Given the description of an element on the screen output the (x, y) to click on. 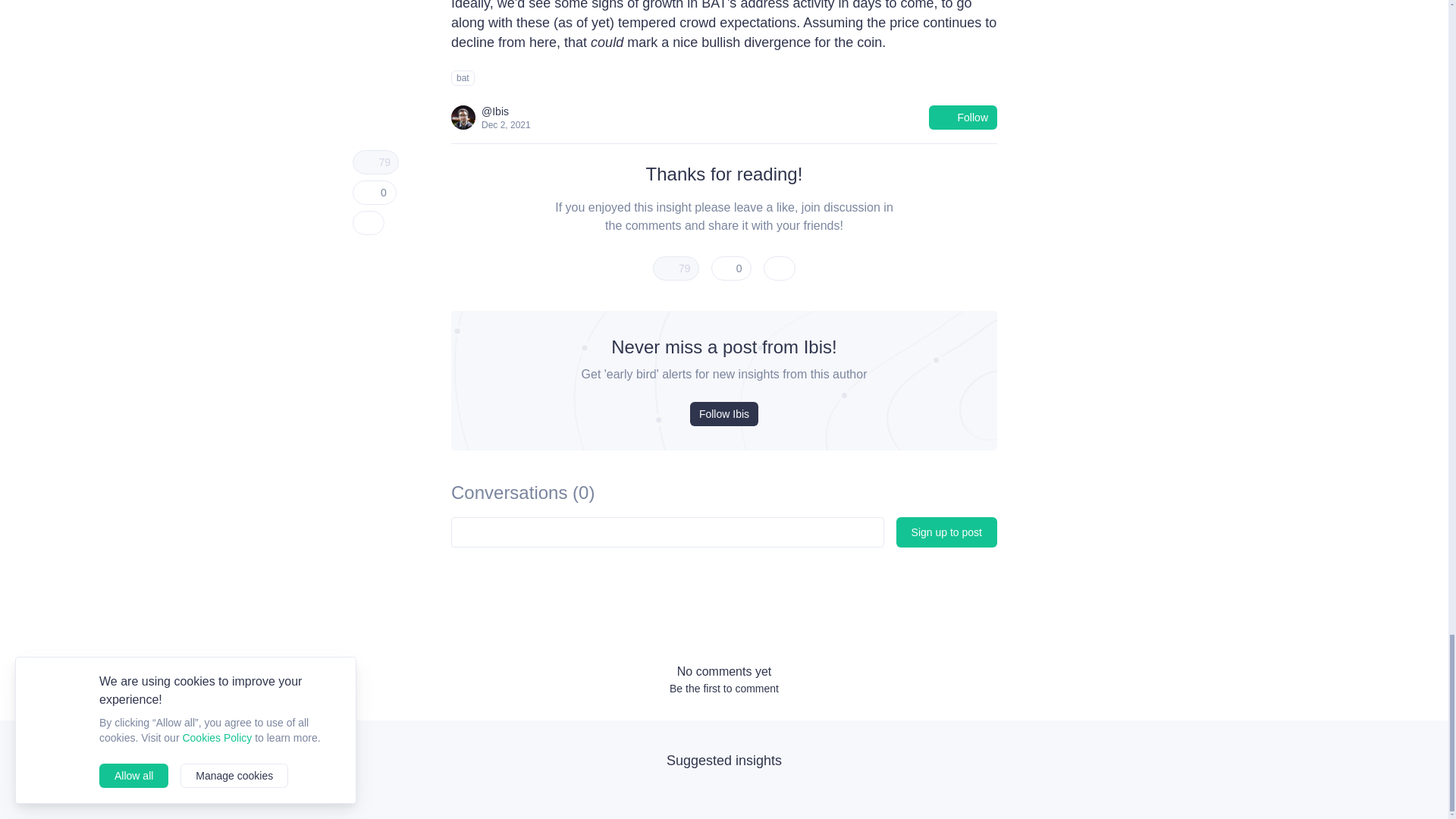
Follow Ibis (724, 413)
bat (462, 77)
79 (675, 268)
Sign up to post (946, 531)
0 (731, 268)
Follow (962, 117)
